Given the description of an element on the screen output the (x, y) to click on. 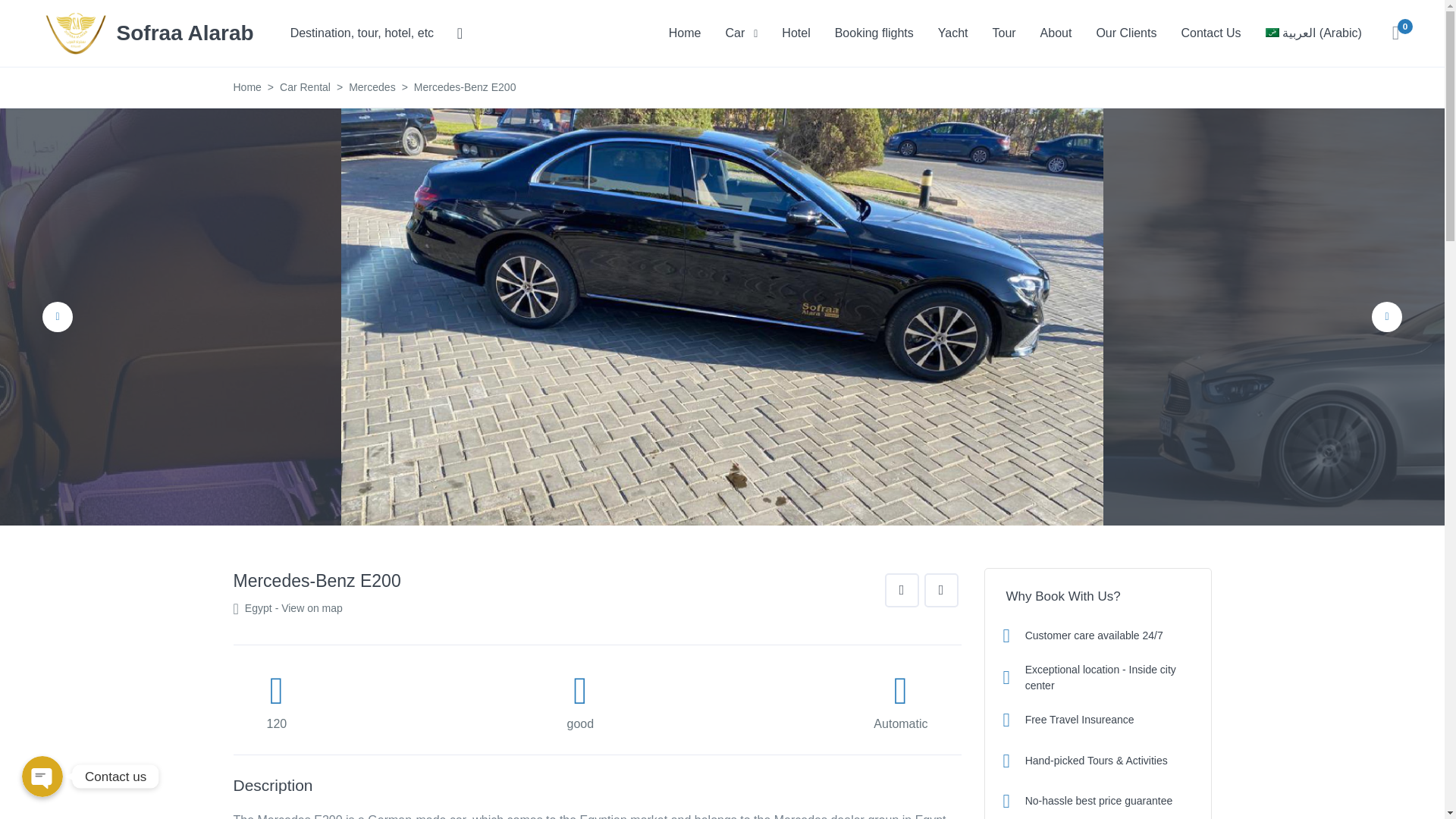
Yacht (952, 32)
Our Clients (1126, 32)
Arabic (1313, 32)
About (1055, 32)
Car (741, 32)
Home (684, 32)
Home (684, 32)
Car (741, 32)
Destination, tour, hotel, etc (376, 33)
Booking flights (874, 32)
Hotel (796, 32)
Yacht (952, 32)
Sofraa Alarab (149, 32)
Contact Us (1210, 32)
Hotel (796, 32)
